Given the description of an element on the screen output the (x, y) to click on. 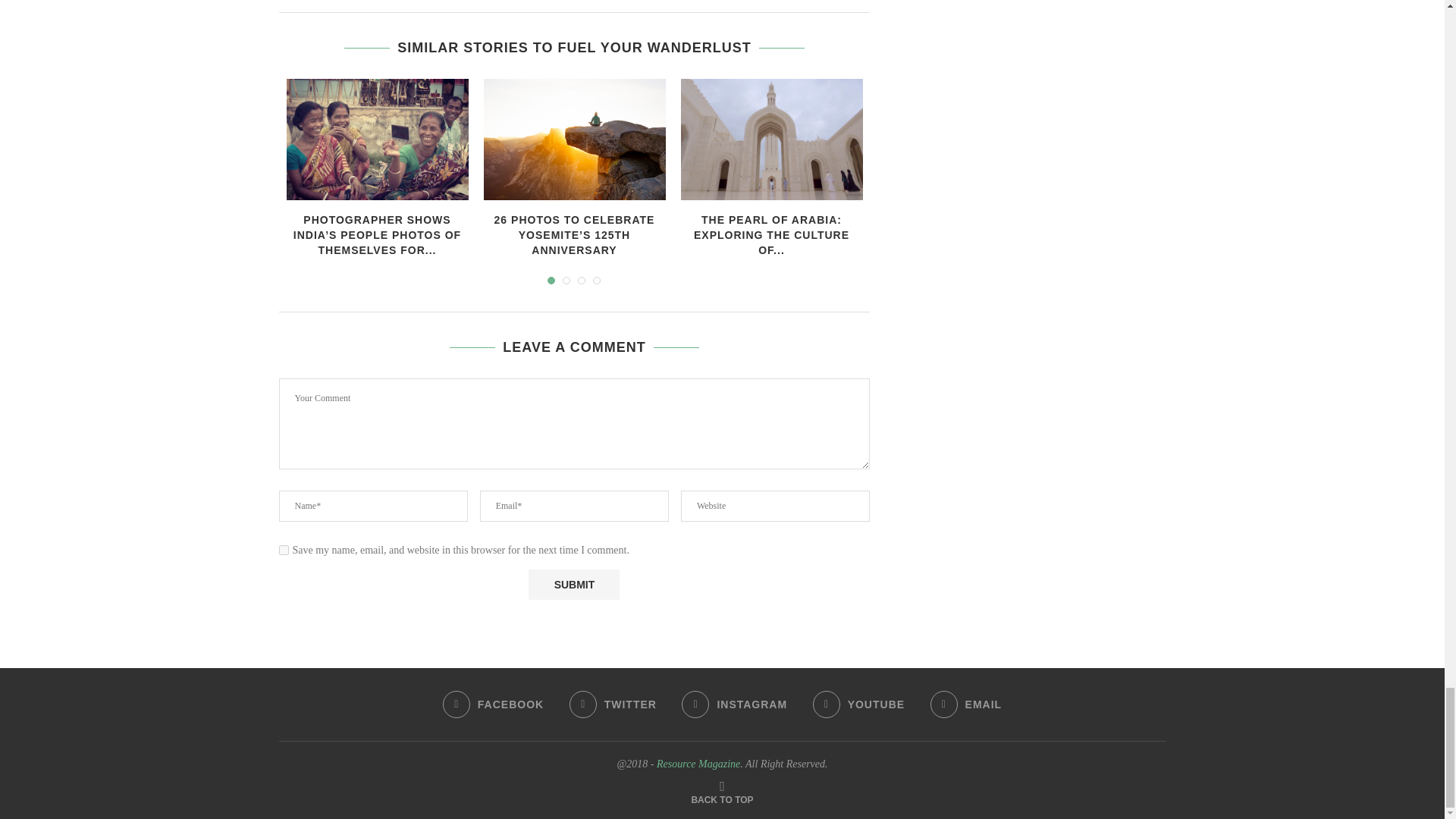
Submit (574, 584)
yes (283, 550)
